Given the description of an element on the screen output the (x, y) to click on. 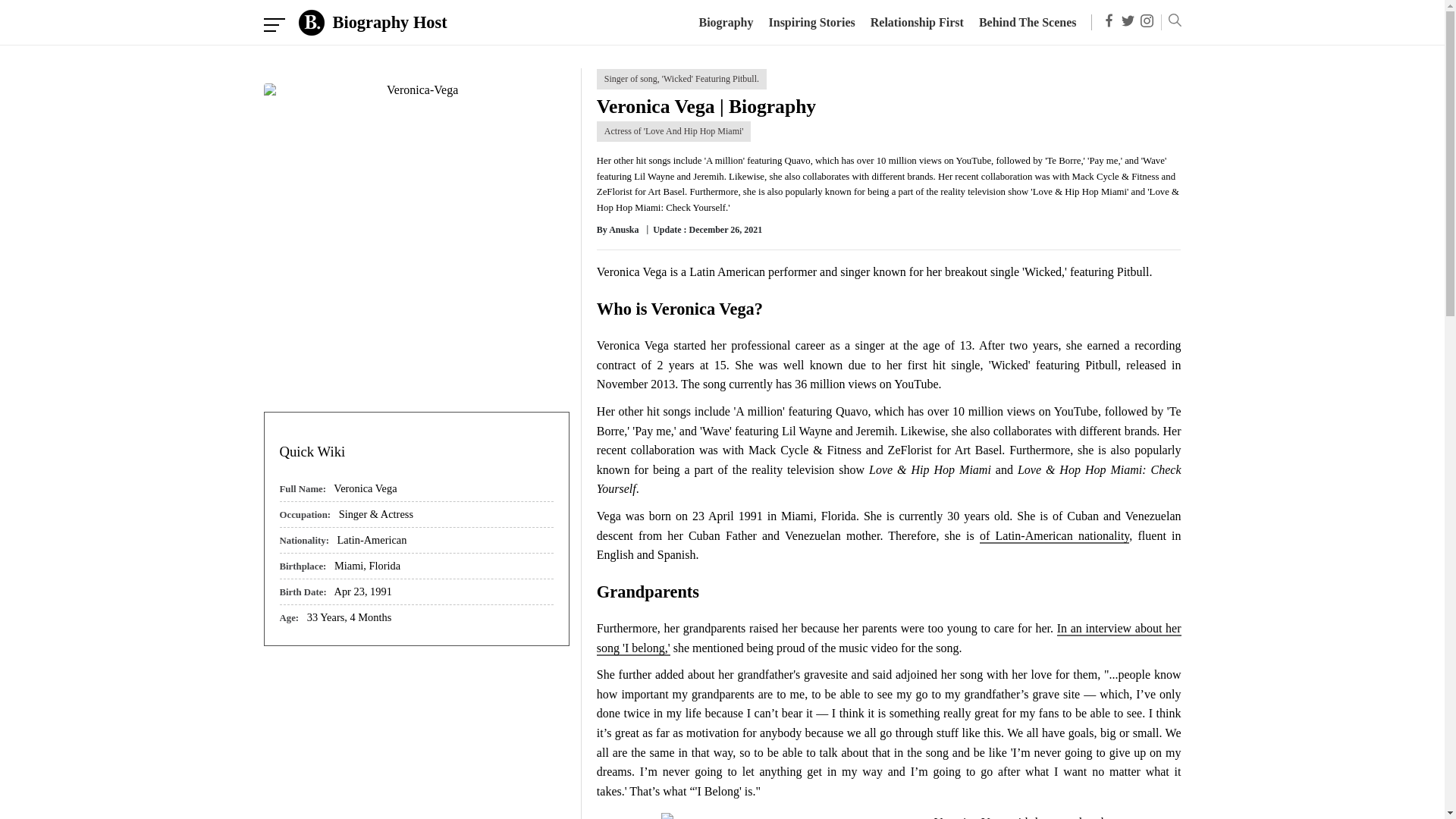
Anuska (623, 229)
Behind The Scenes (1027, 21)
Relationship First (916, 21)
Biography (725, 21)
of Latin-American nationality (1054, 536)
Biography Host (371, 22)
Relationship First (916, 21)
Inspiring Stories (812, 21)
Biography Host (371, 22)
Inspiring Stories (812, 21)
